Given the description of an element on the screen output the (x, y) to click on. 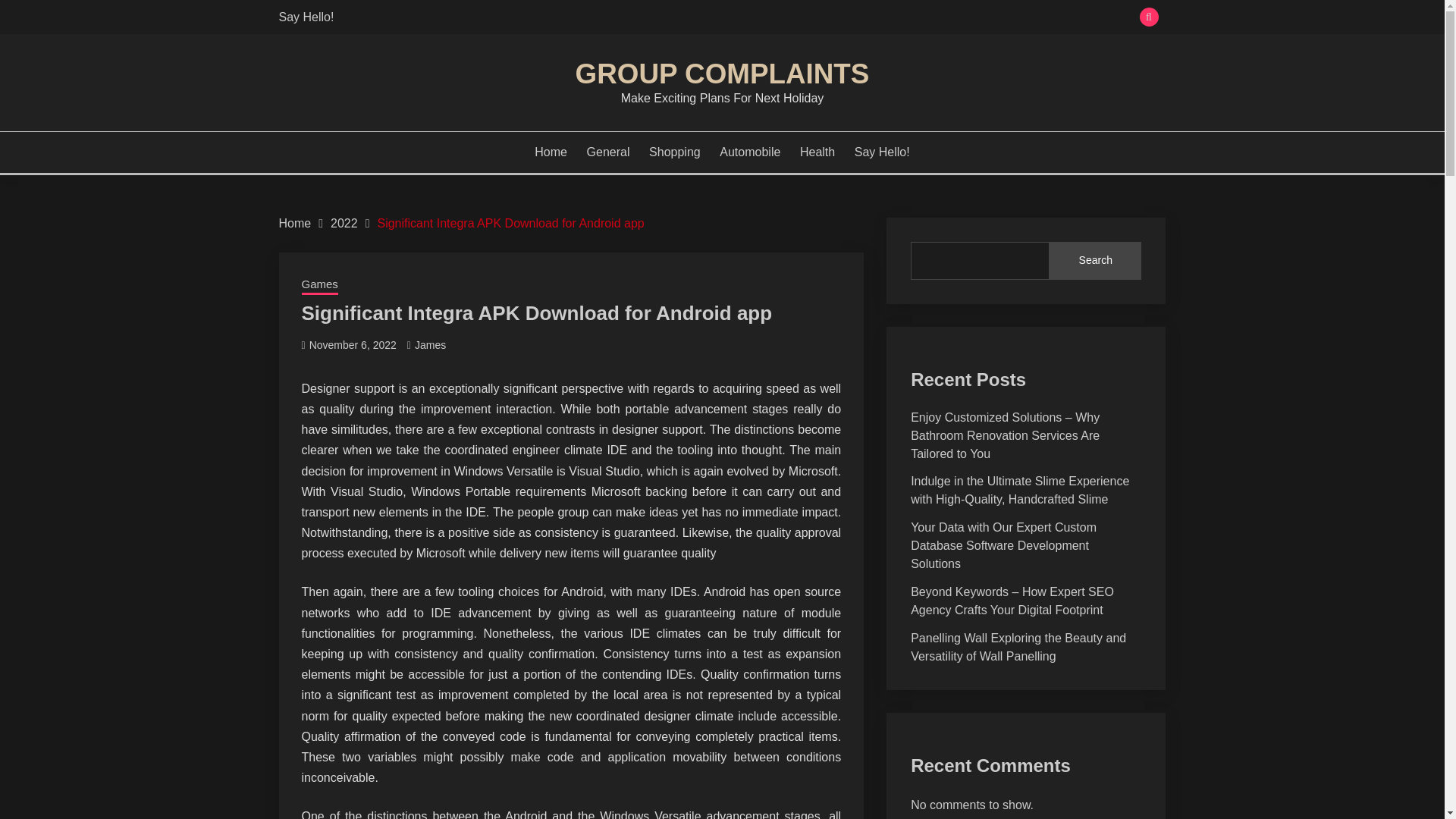
Home (550, 152)
Shopping (674, 152)
Search (1095, 260)
Search (832, 18)
November 6, 2022 (352, 345)
James (429, 345)
Automobile (749, 152)
Say Hello! (306, 16)
GROUP COMPLAINTS (722, 73)
Say Hello! (882, 152)
General (608, 152)
2022 (344, 223)
